Given the description of an element on the screen output the (x, y) to click on. 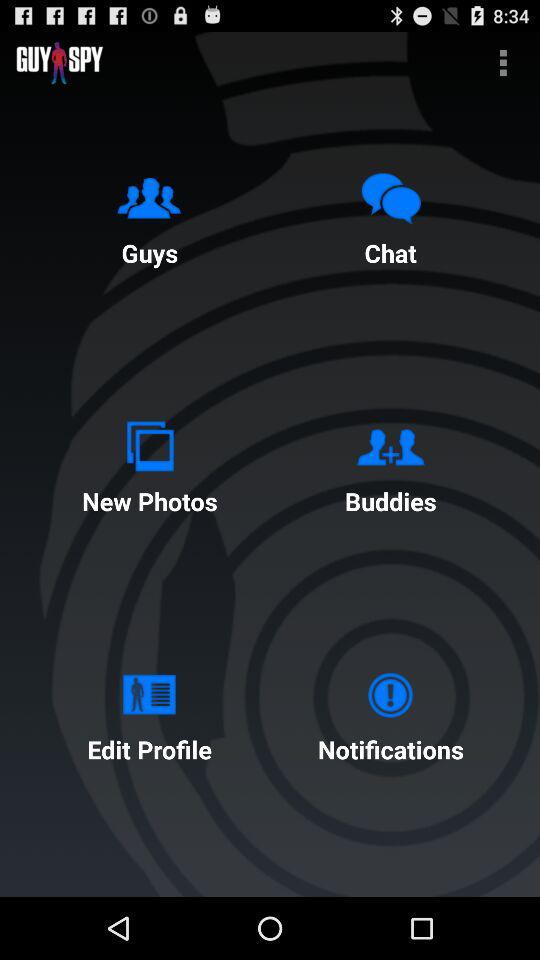
tap item to the left of the buddies item (149, 463)
